Given the description of an element on the screen output the (x, y) to click on. 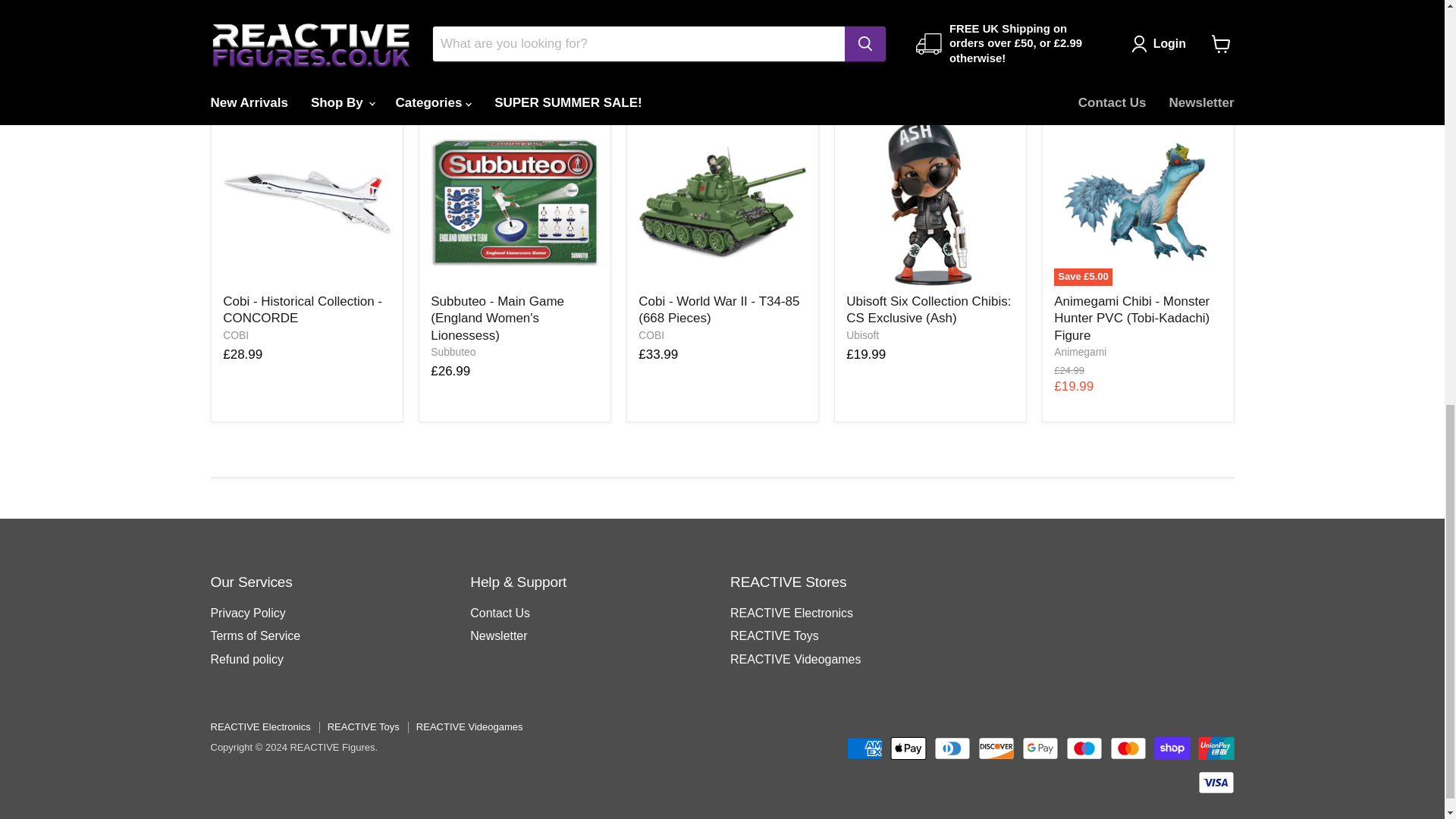
COBI (651, 335)
Animegami (1080, 351)
Google Pay (1040, 748)
Diners Club (952, 748)
American Express (863, 748)
COBI (235, 335)
Apple Pay (907, 748)
Discover (996, 748)
Subbuteo (453, 351)
Ubisoft (862, 335)
